Given the description of an element on the screen output the (x, y) to click on. 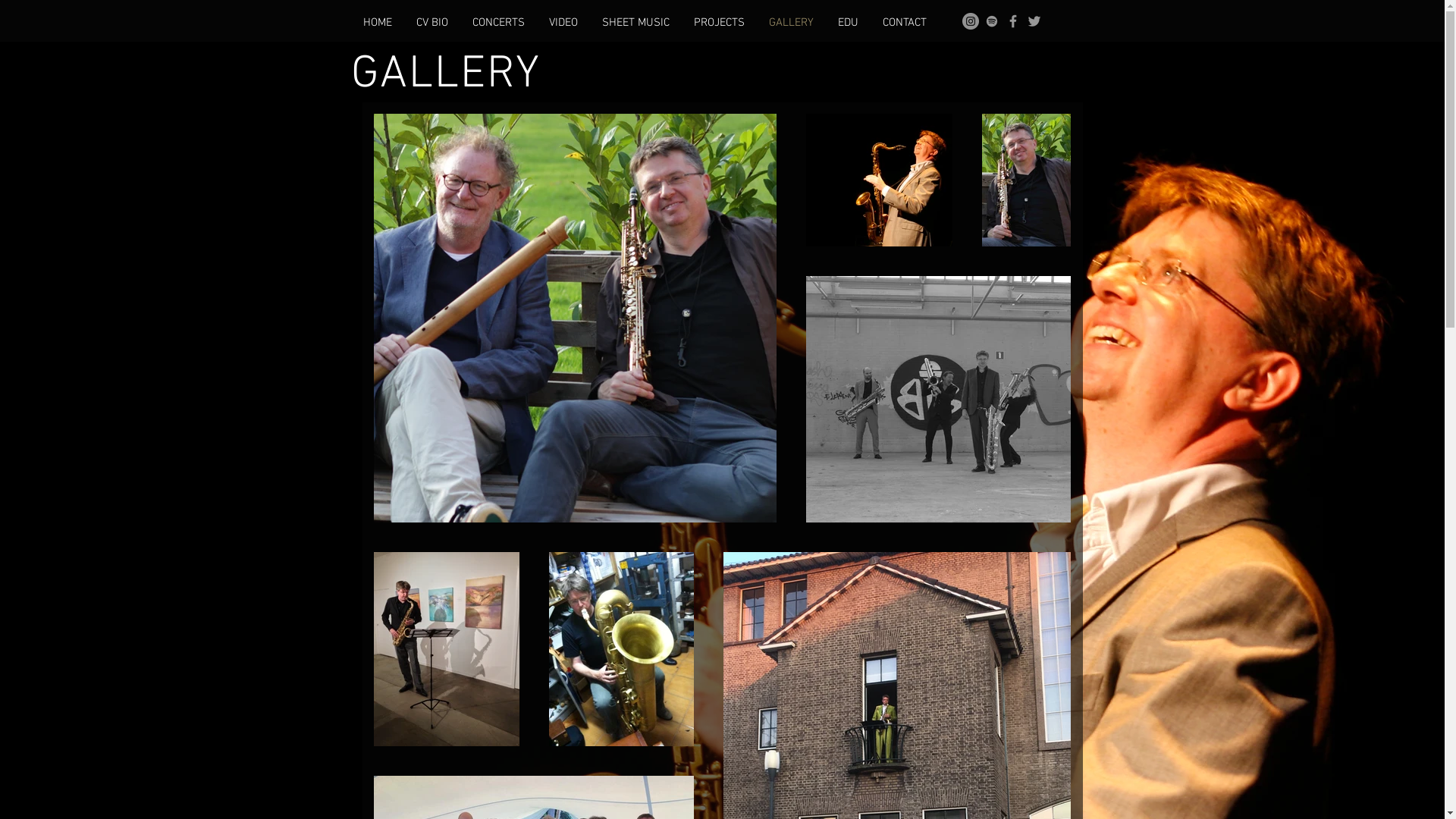
VIDEO Element type: text (562, 22)
HOME Element type: text (376, 22)
GALLERY Element type: text (790, 22)
CV BIO Element type: text (431, 22)
EDU Element type: text (847, 22)
PROJECTS Element type: text (718, 22)
CONCERTS Element type: text (497, 22)
CONTACT Element type: text (904, 22)
SHEET MUSIC Element type: text (635, 22)
